Given the description of an element on the screen output the (x, y) to click on. 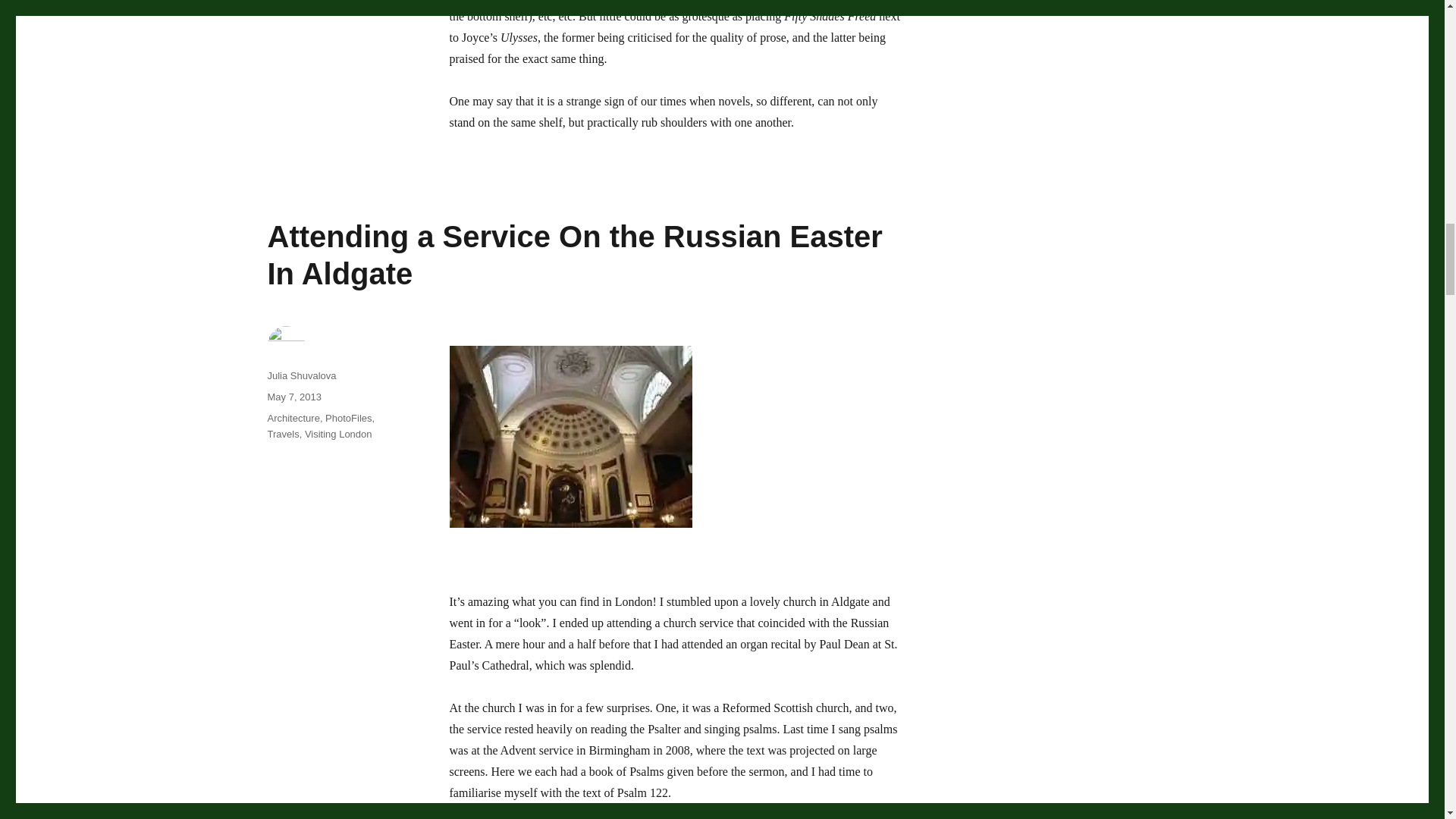
PhotoFiles (347, 418)
Visiting London (338, 433)
Julia Shuvalova (301, 375)
Travels (282, 433)
May 7, 2013 (293, 396)
Architecture (292, 418)
Attending a Service On the Russian Easter In Aldgate (574, 255)
